Given the description of an element on the screen output the (x, y) to click on. 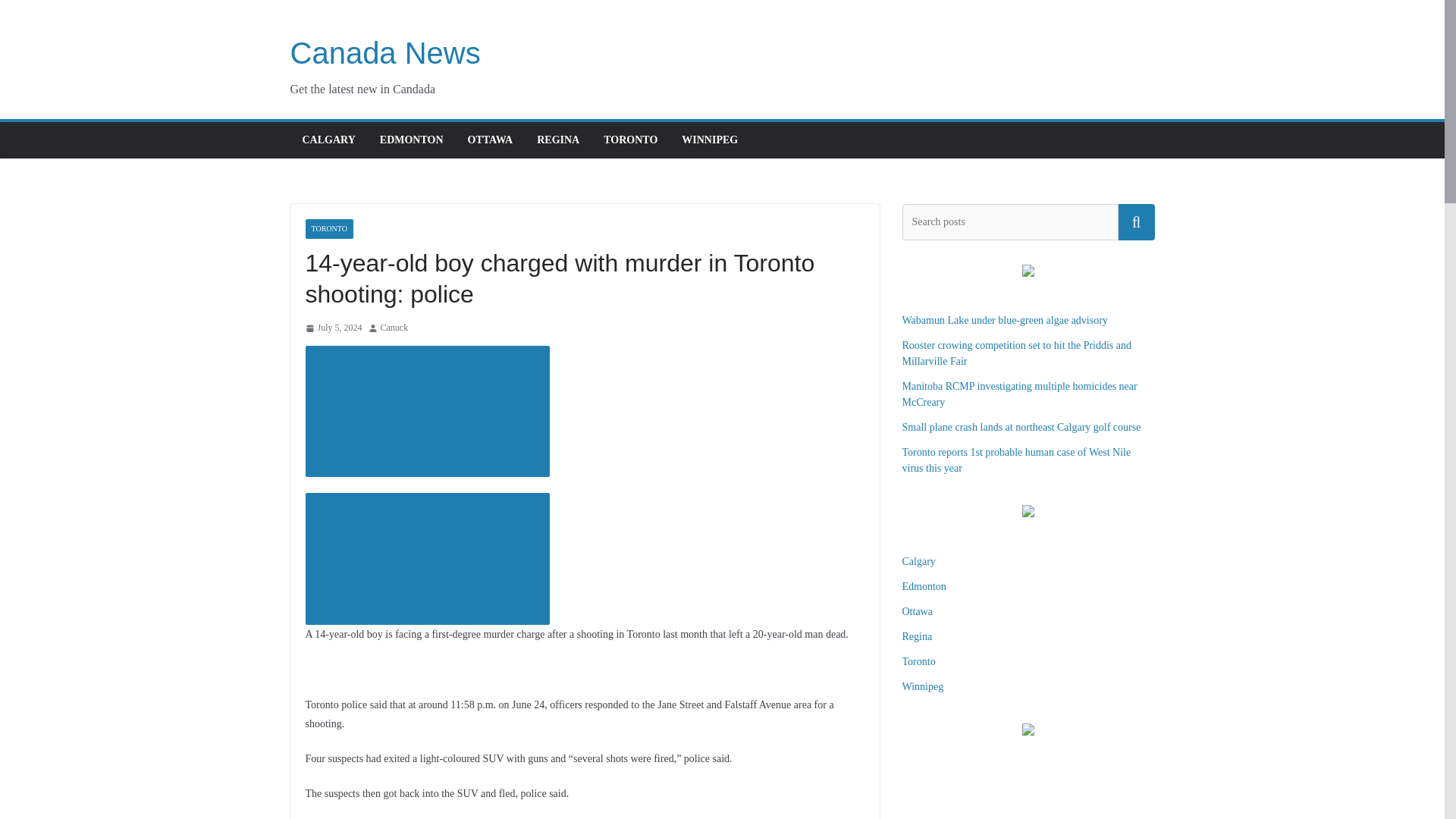
OTTAWA (490, 139)
July 5, 2024 (332, 328)
Descrease article font size (426, 411)
REGINA (558, 139)
EDMONTON (412, 139)
Increase article font size (426, 558)
TORONTO (631, 139)
Canada News (384, 52)
Canuck (394, 328)
CALGARY (328, 139)
